Given the description of an element on the screen output the (x, y) to click on. 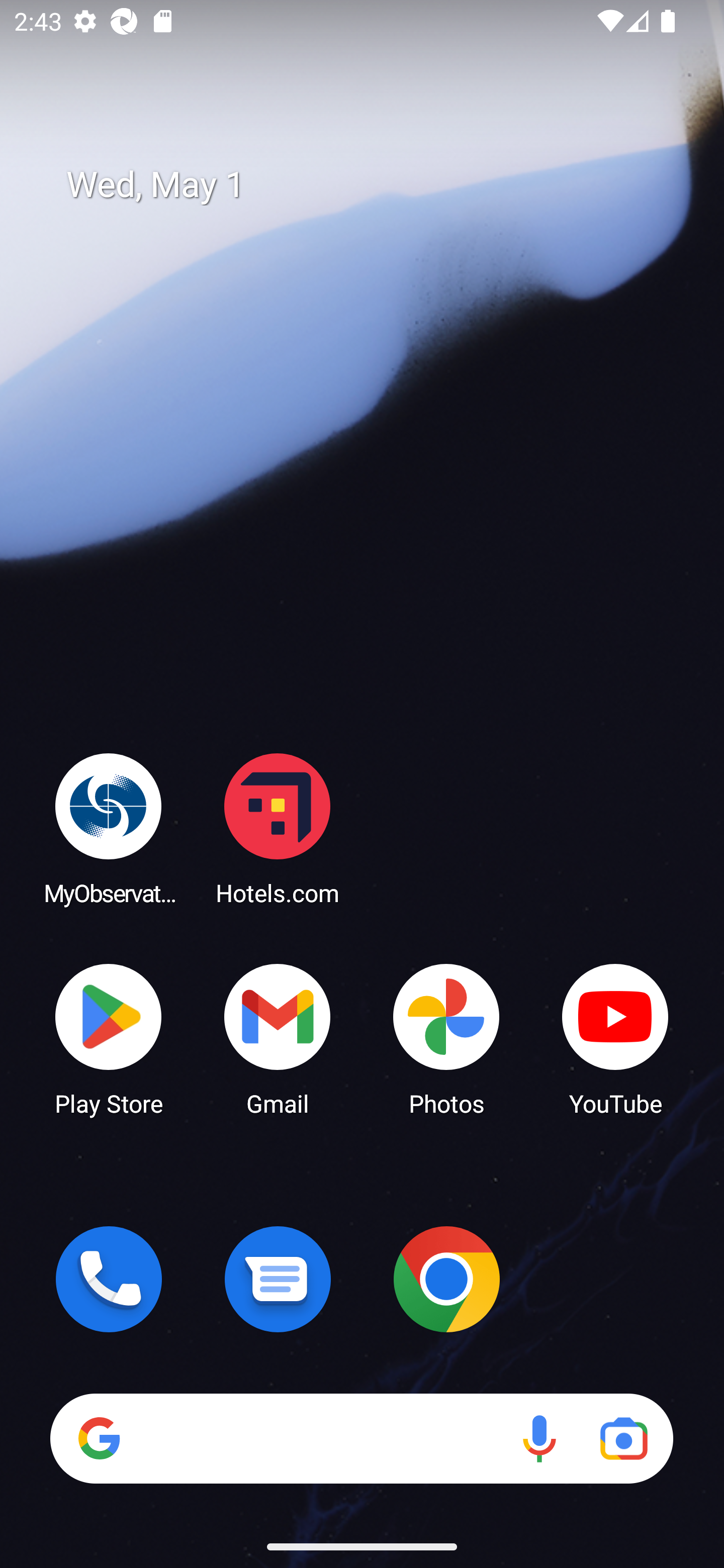
Wed, May 1 (375, 184)
MyObservatory (108, 828)
Hotels.com (277, 828)
Play Store (108, 1038)
Gmail (277, 1038)
Photos (445, 1038)
YouTube (615, 1038)
Phone (108, 1279)
Messages (277, 1279)
Chrome (446, 1279)
Search Voice search Google Lens (361, 1438)
Voice search (539, 1438)
Google Lens (623, 1438)
